Given the description of an element on the screen output the (x, y) to click on. 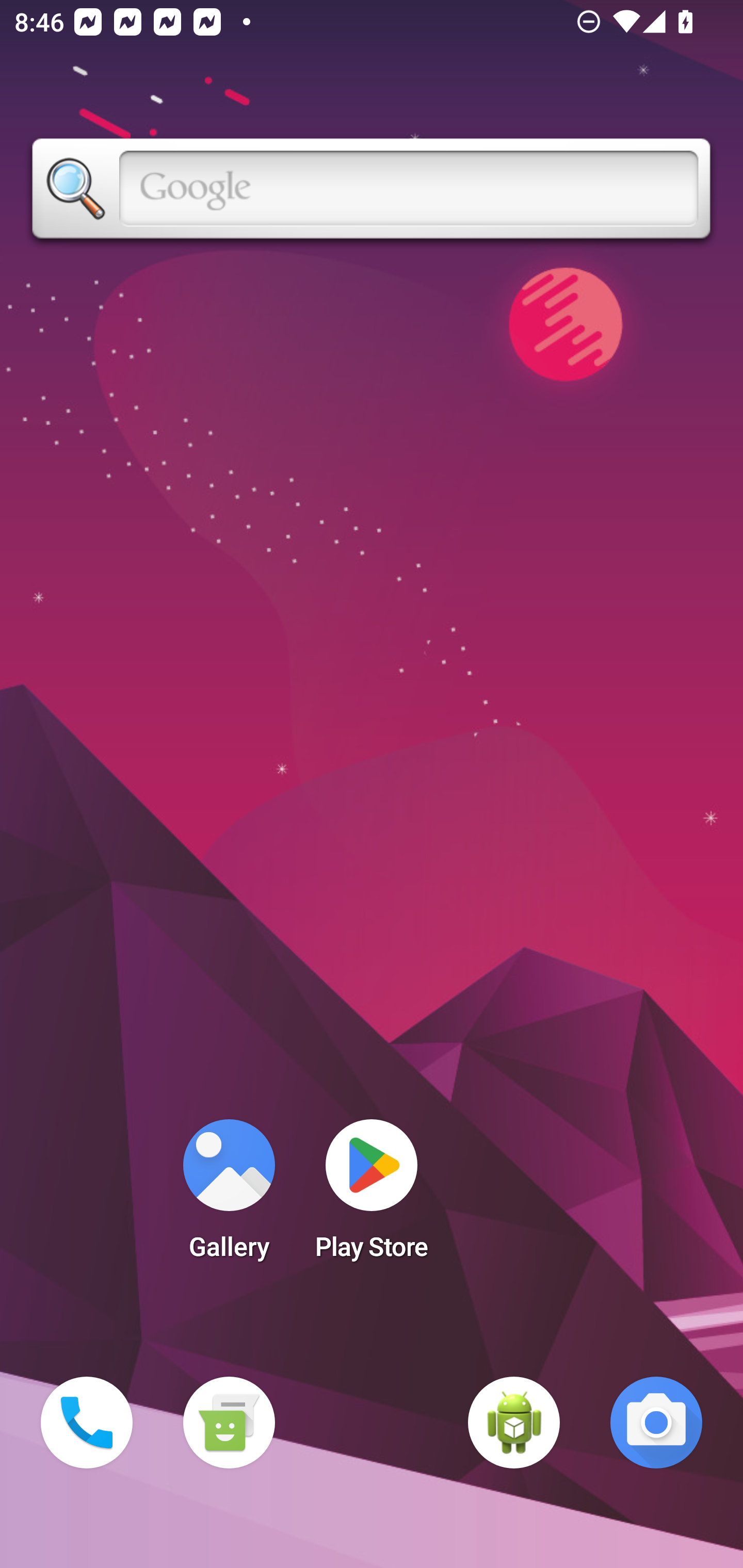
Gallery (228, 1195)
Play Store (371, 1195)
Phone (86, 1422)
Messaging (228, 1422)
WebView Browser Tester (513, 1422)
Camera (656, 1422)
